Given the description of an element on the screen output the (x, y) to click on. 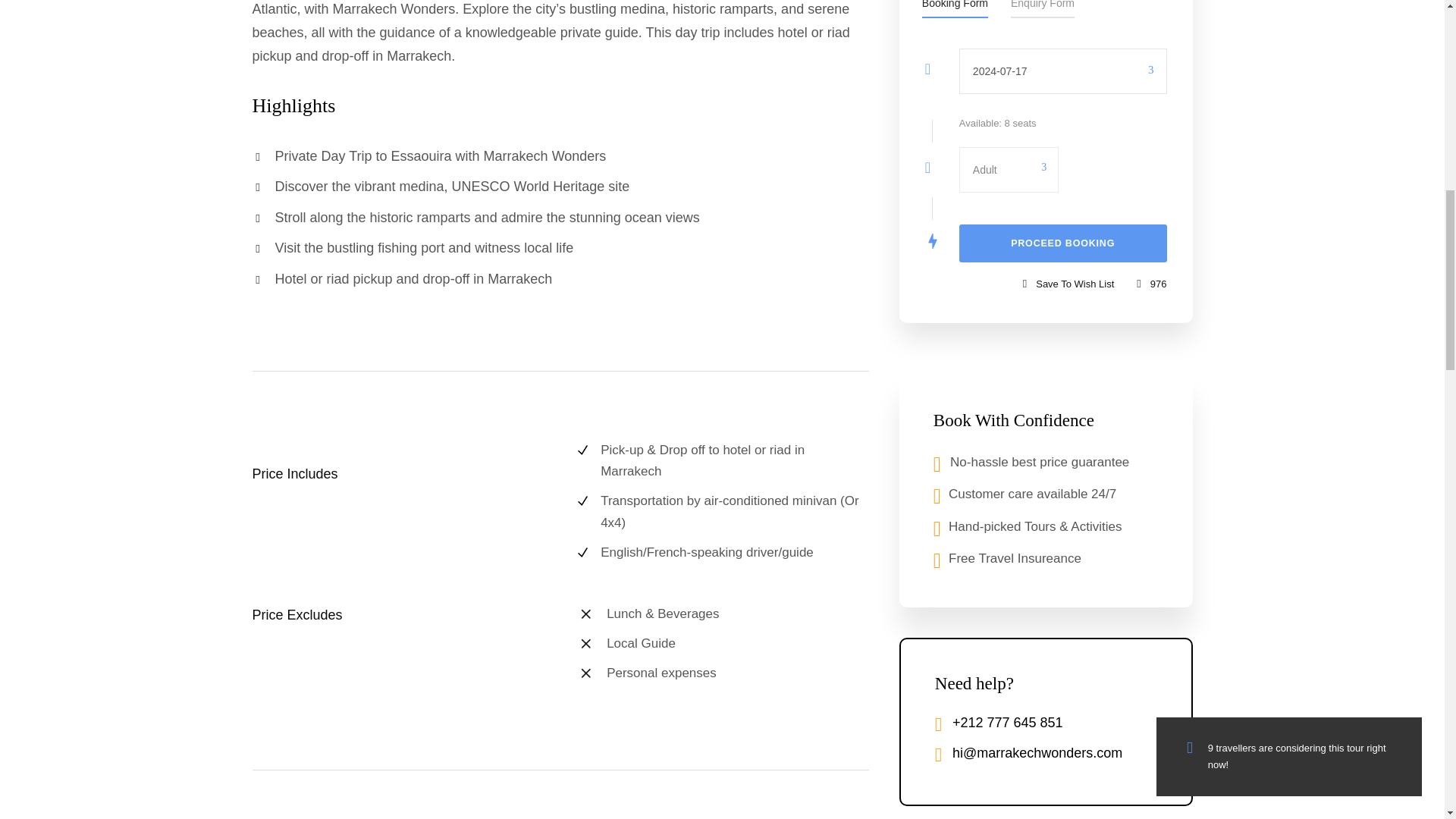
Proceed Booking (1063, 243)
2024-07-17 (1063, 71)
